Given the description of an element on the screen output the (x, y) to click on. 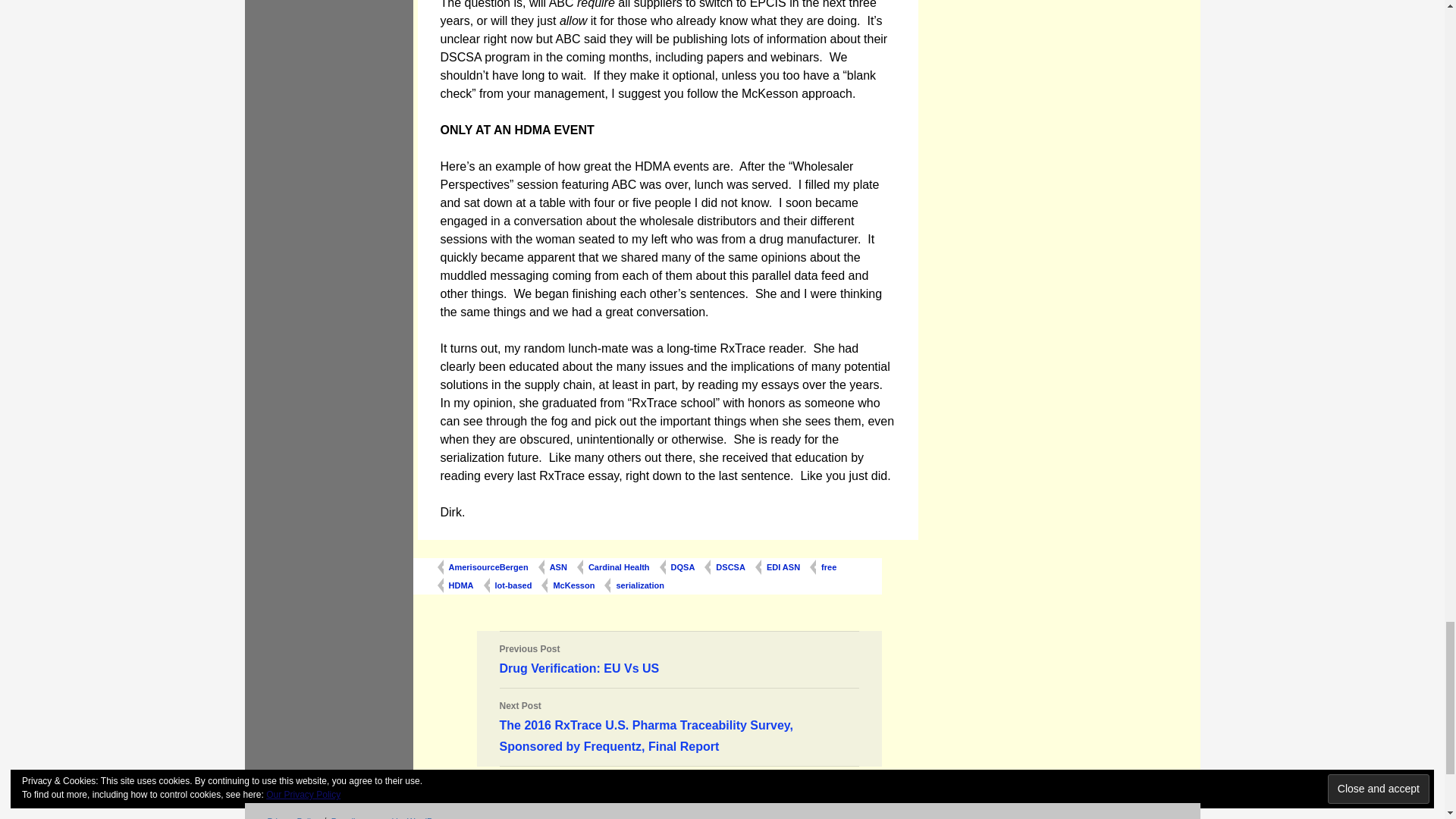
free (828, 566)
EDI ASN (783, 566)
AmerisourceBergen (487, 566)
HDMA (460, 585)
DSCSA (730, 566)
ASN (558, 566)
McKesson (573, 585)
lot-based (513, 585)
DQSA (682, 566)
Cardinal Health (619, 566)
